Given the description of an element on the screen output the (x, y) to click on. 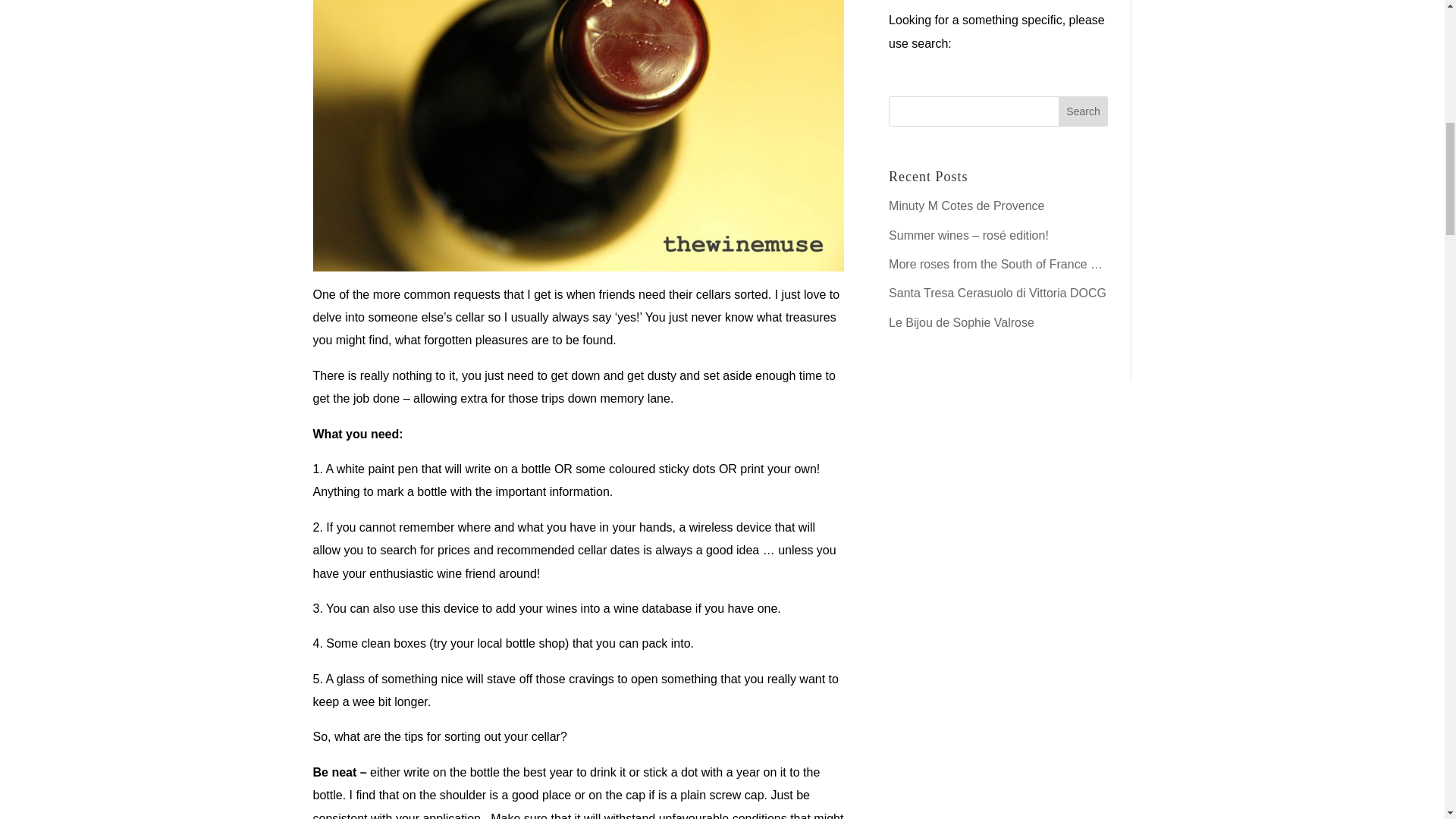
Search (1083, 111)
Santa Tresa Cerasuolo di Vittoria DOCG (997, 292)
Minuty M Cotes de Provence (965, 205)
Le Bijou de Sophie Valrose (960, 322)
Search (1083, 111)
